Given the description of an element on the screen output the (x, y) to click on. 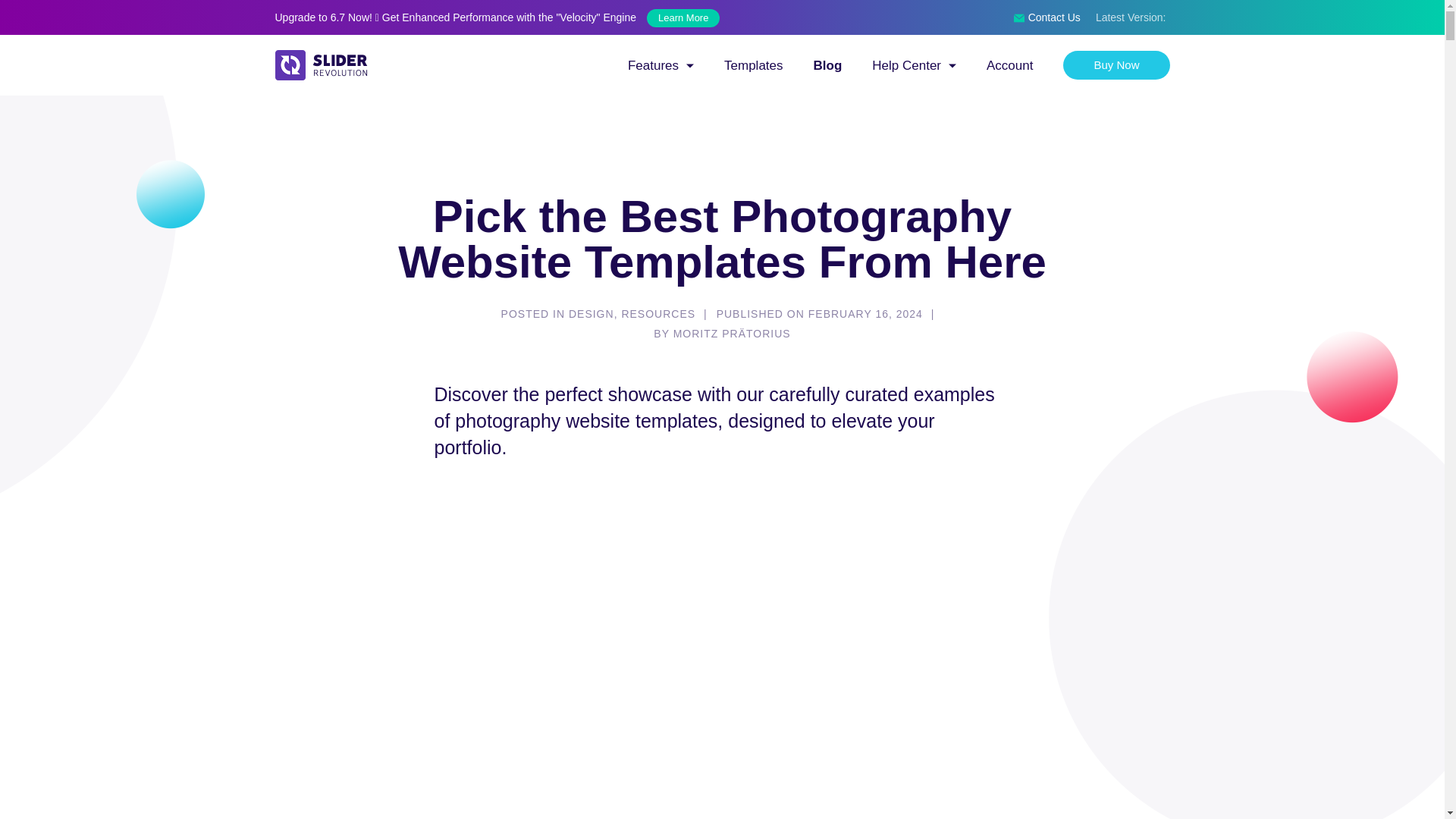
Contact Us (1046, 17)
Templates (753, 64)
Features (660, 64)
Learn More (679, 17)
Slider Revolution (456, 77)
Learn More (682, 18)
Help Center (914, 64)
Blog (828, 64)
